Given the description of an element on the screen output the (x, y) to click on. 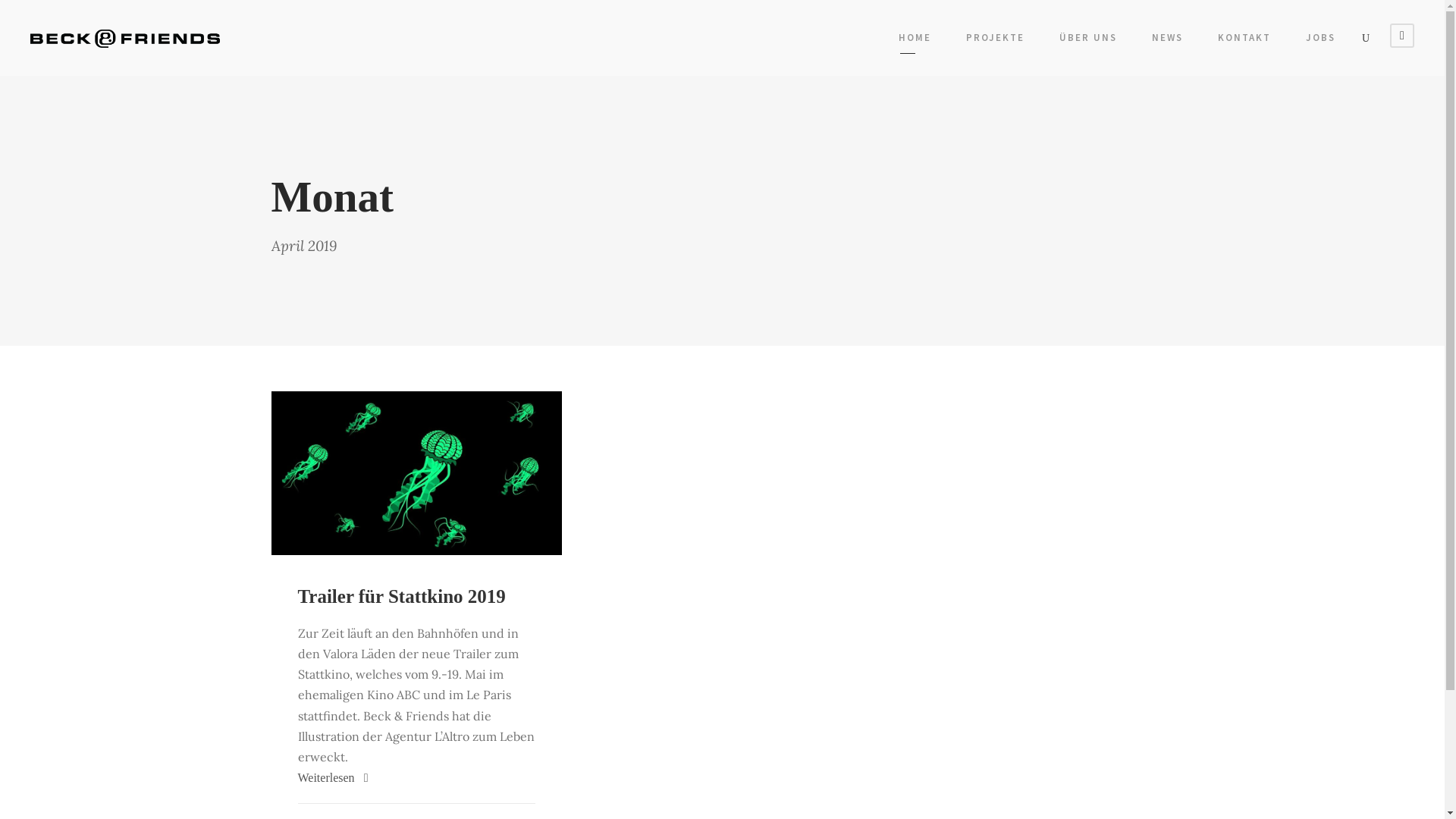
KONTAKT Element type: text (1243, 41)
NEWS Element type: text (1167, 41)
JOBS Element type: text (1320, 41)
Weiterlesen Element type: text (332, 777)
Screen Shot 2019-04-10 at 14.25.05 Element type: hover (416, 473)
HOME Element type: text (914, 41)
PROJEKTE Element type: text (995, 41)
bf_logo Element type: hover (124, 38)
